Given the description of an element on the screen output the (x, y) to click on. 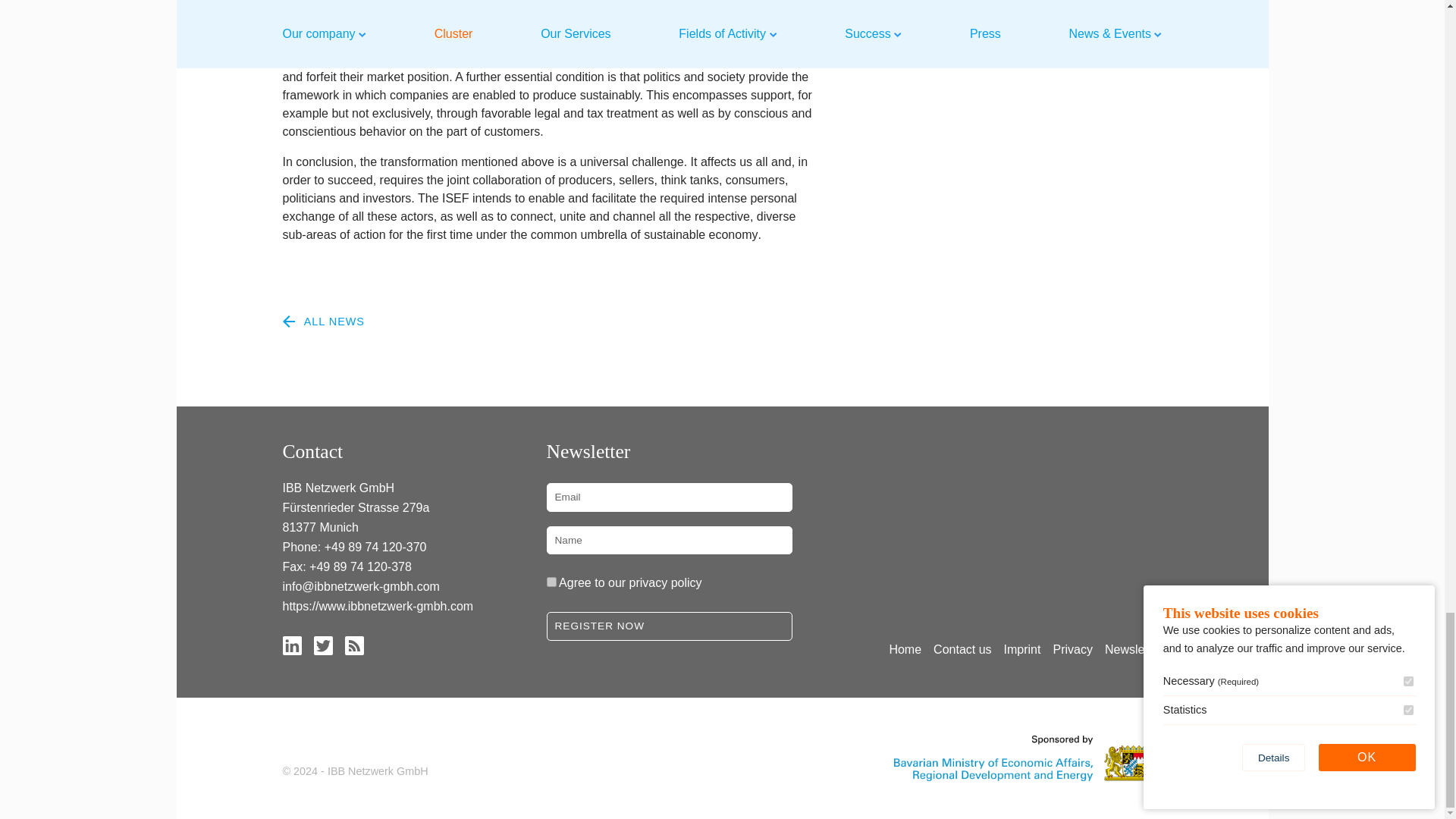
LinkedIn (291, 644)
Twitter (323, 644)
RSS (352, 644)
Register now (669, 625)
1 (551, 582)
